Given the description of an element on the screen output the (x, y) to click on. 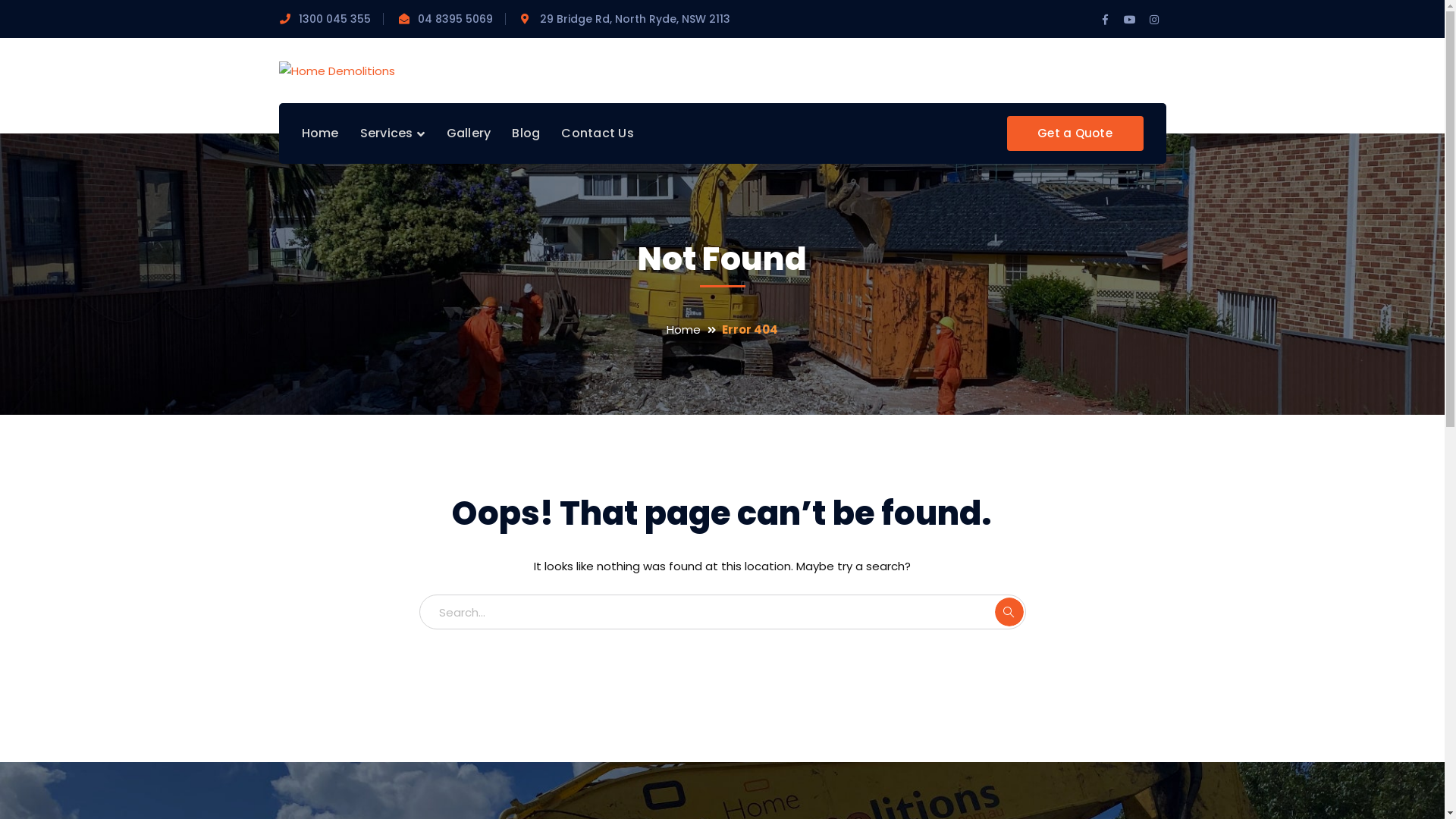
Home Element type: text (319, 133)
Facebook Profile Element type: text (1105, 19)
Home Demolitions Element type: hover (337, 70)
Blog Element type: text (525, 133)
04 8395 5069 Element type: text (454, 18)
Get a Quote Element type: text (1075, 133)
Services Element type: text (391, 133)
Search for: Element type: hover (721, 611)
Home Element type: text (693, 329)
1300 045 355 Element type: text (334, 18)
SEARCH Element type: text (1008, 611)
Youtube Profile Element type: text (1129, 19)
Instagram Profile Element type: text (1154, 19)
Gallery Element type: text (467, 133)
Contact Us Element type: text (597, 133)
